Given the description of an element on the screen output the (x, y) to click on. 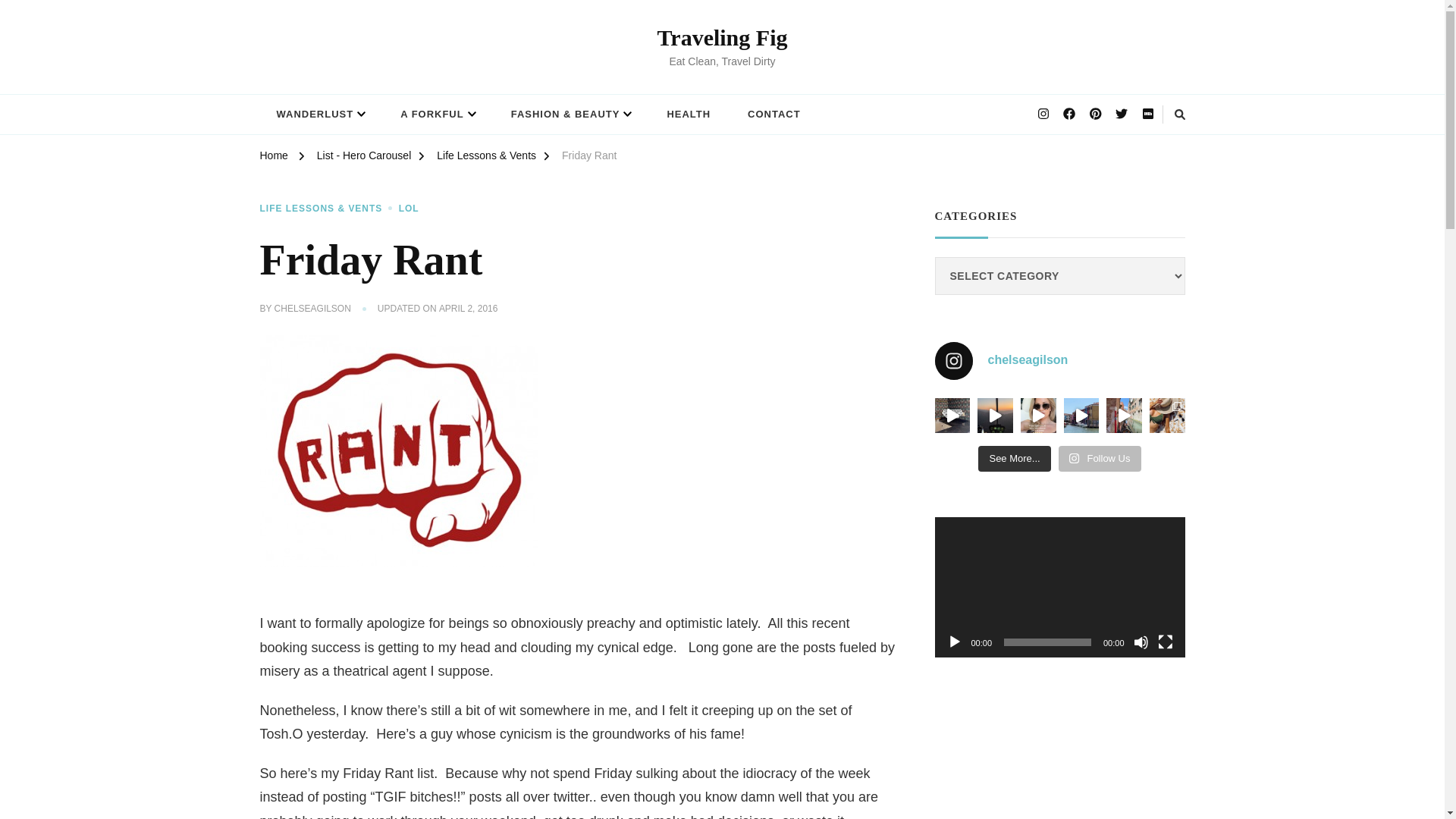
Friday Rant (588, 157)
CHELSEAGILSON (312, 309)
LOL (408, 209)
Play (953, 642)
Mute (1140, 642)
Home (272, 157)
CONTACT (773, 114)
Traveling Fig (722, 37)
A FORKFUL (437, 114)
WANDERLUST (319, 114)
List - Hero Carousel (364, 157)
HEALTH (687, 114)
Fullscreen (1164, 642)
